Given the description of an element on the screen output the (x, y) to click on. 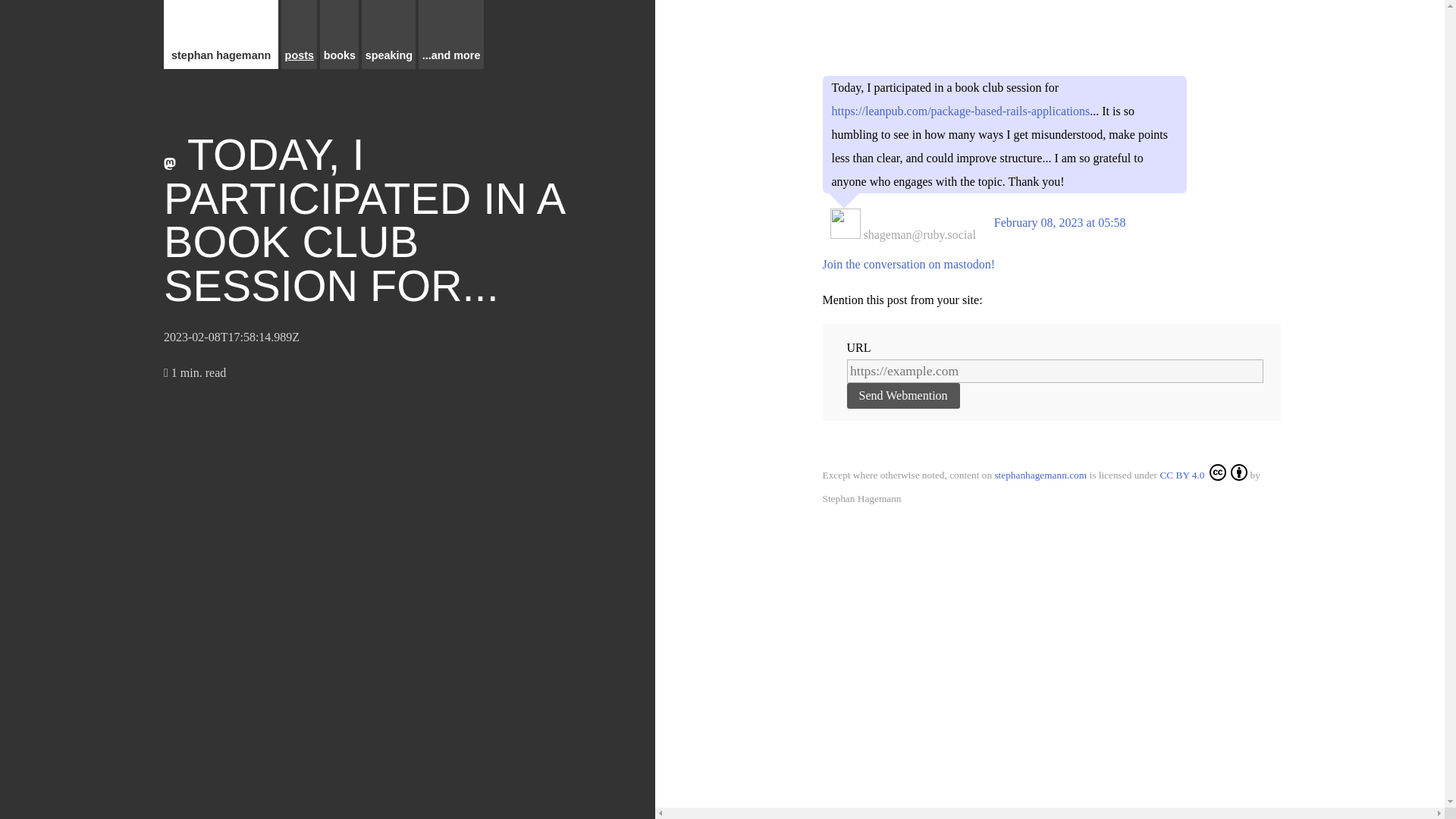
February 08, 2023 at 05:58 (1059, 222)
Join the conversation on mastodon! (908, 264)
CC BY 4.0 (1202, 474)
stephan hagemann (220, 34)
stephanhagemann.com (1040, 474)
Send Webmention (902, 395)
Send Webmention (902, 395)
...and more (451, 34)
